Given the description of an element on the screen output the (x, y) to click on. 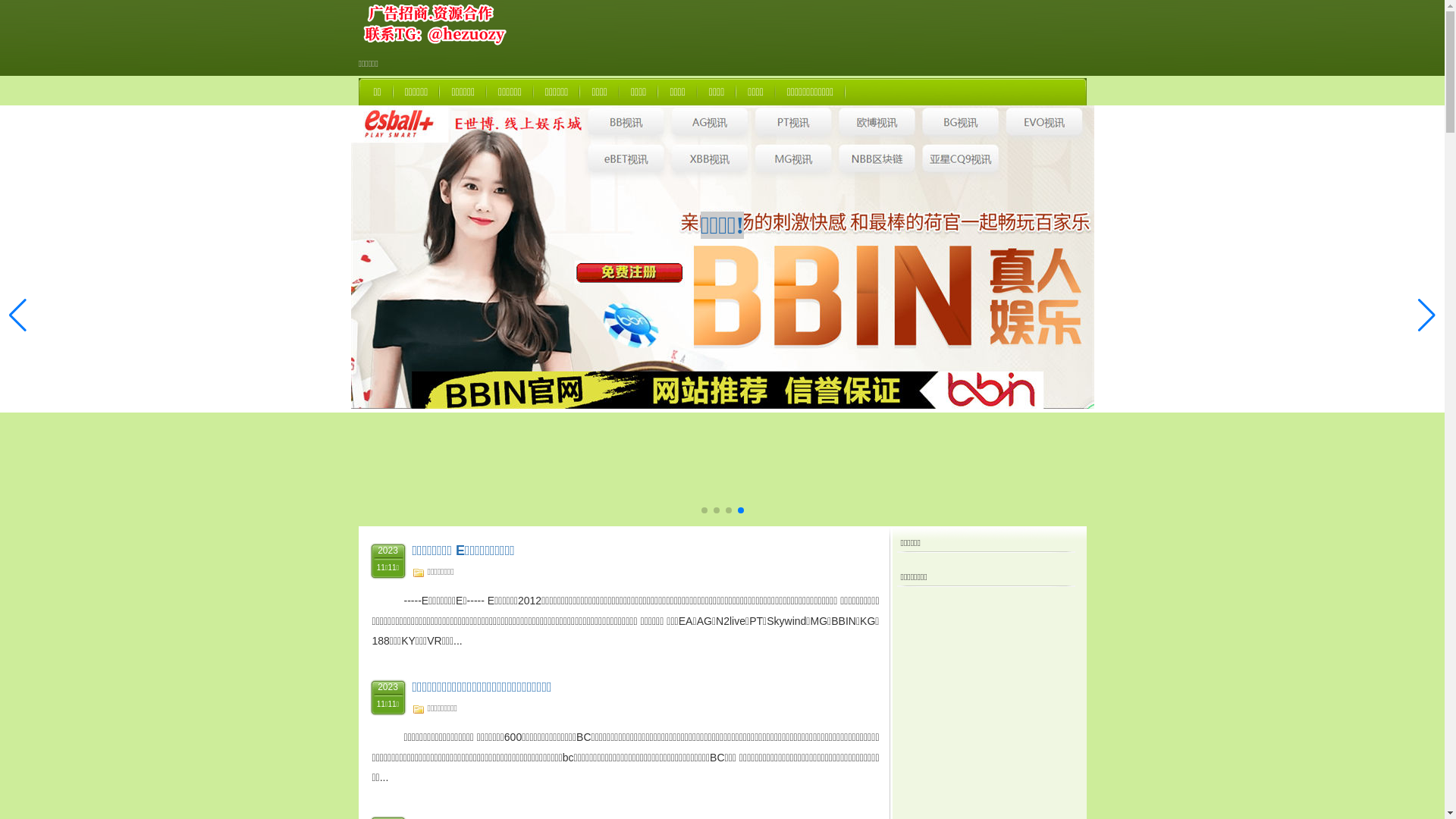
. Element type: text (721, 289)
. Element type: text (722, 285)
